Given the description of an element on the screen output the (x, y) to click on. 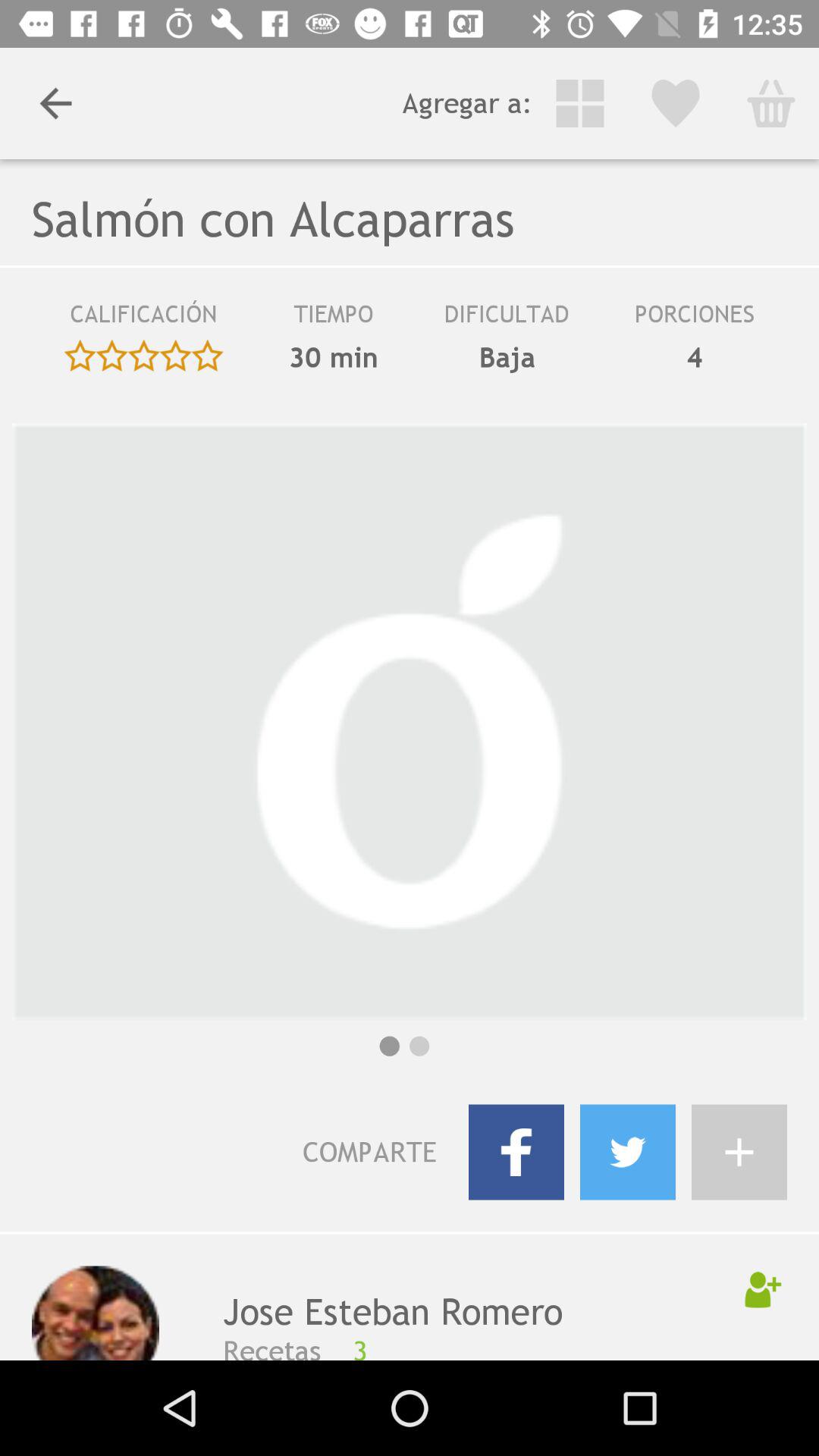
turn on the item next to agregar a: icon (55, 103)
